Given the description of an element on the screen output the (x, y) to click on. 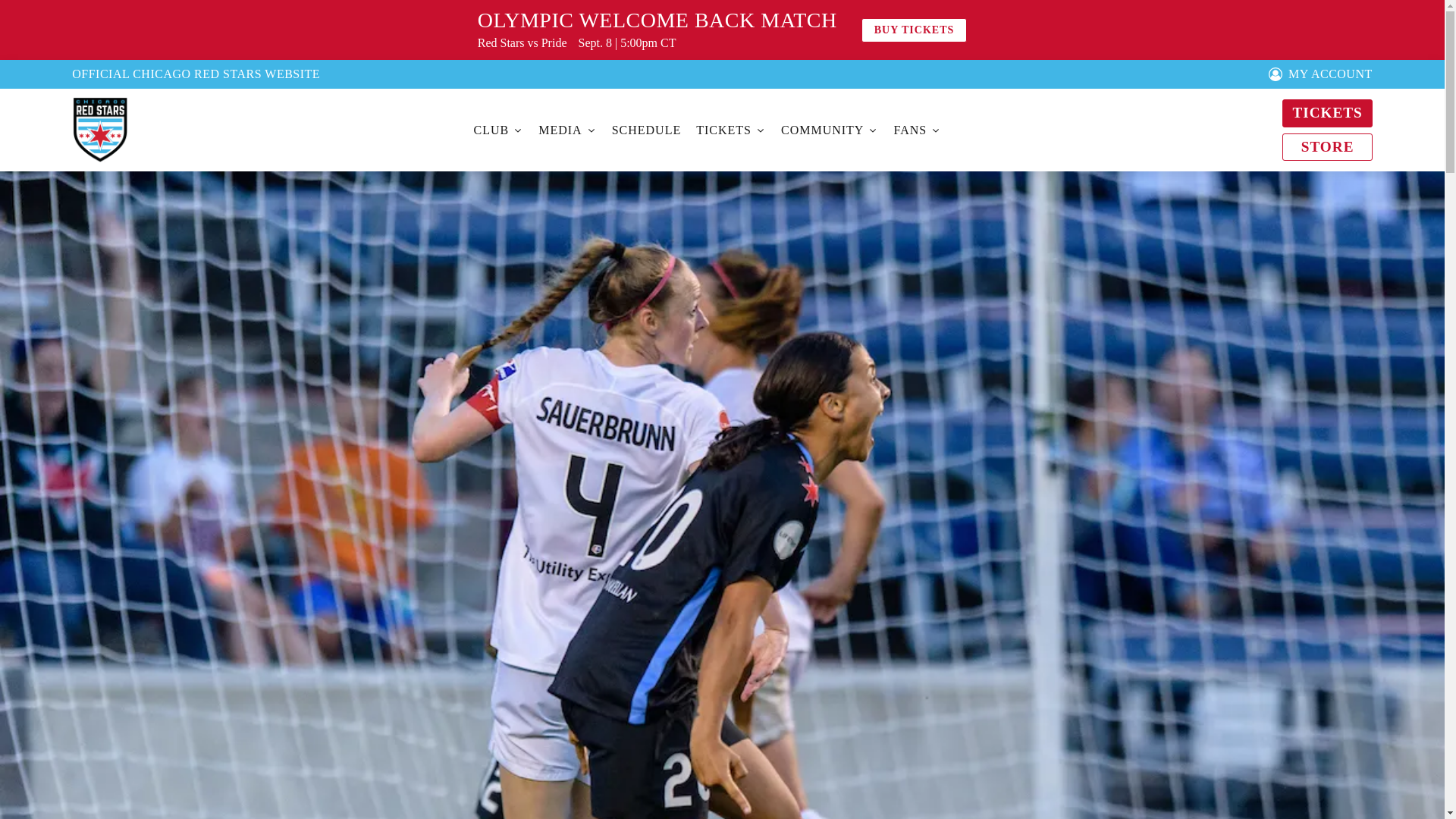
OFFICIAL CHICAGO RED STARS WEBSITE (195, 73)
MY ACCOUNT (1320, 74)
SCHEDULE (644, 130)
CLUB (496, 130)
FANS (915, 130)
TICKETS (1326, 113)
COMMUNITY (827, 130)
STORE (1326, 147)
BUY TICKETS (914, 30)
MEDIA (565, 130)
